Given the description of an element on the screen output the (x, y) to click on. 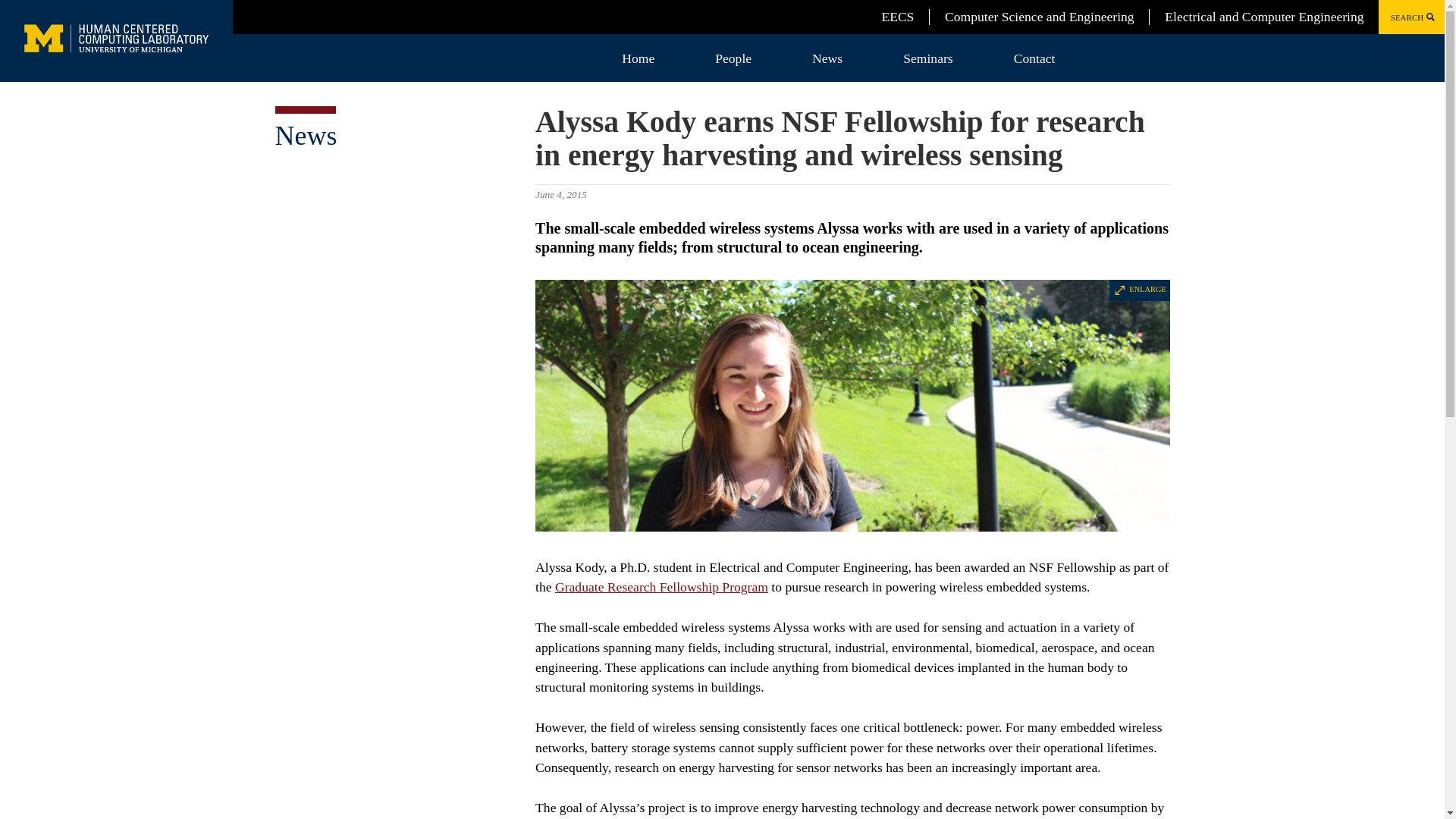
Graduate Research Fellowship Program (661, 586)
People (732, 57)
Computer Science and Engineering (1039, 16)
EECS (897, 16)
Home (638, 57)
Contact (1034, 57)
Seminars (927, 57)
News (305, 135)
News (826, 57)
Electrical and Computer Engineering (1263, 16)
